Given the description of an element on the screen output the (x, y) to click on. 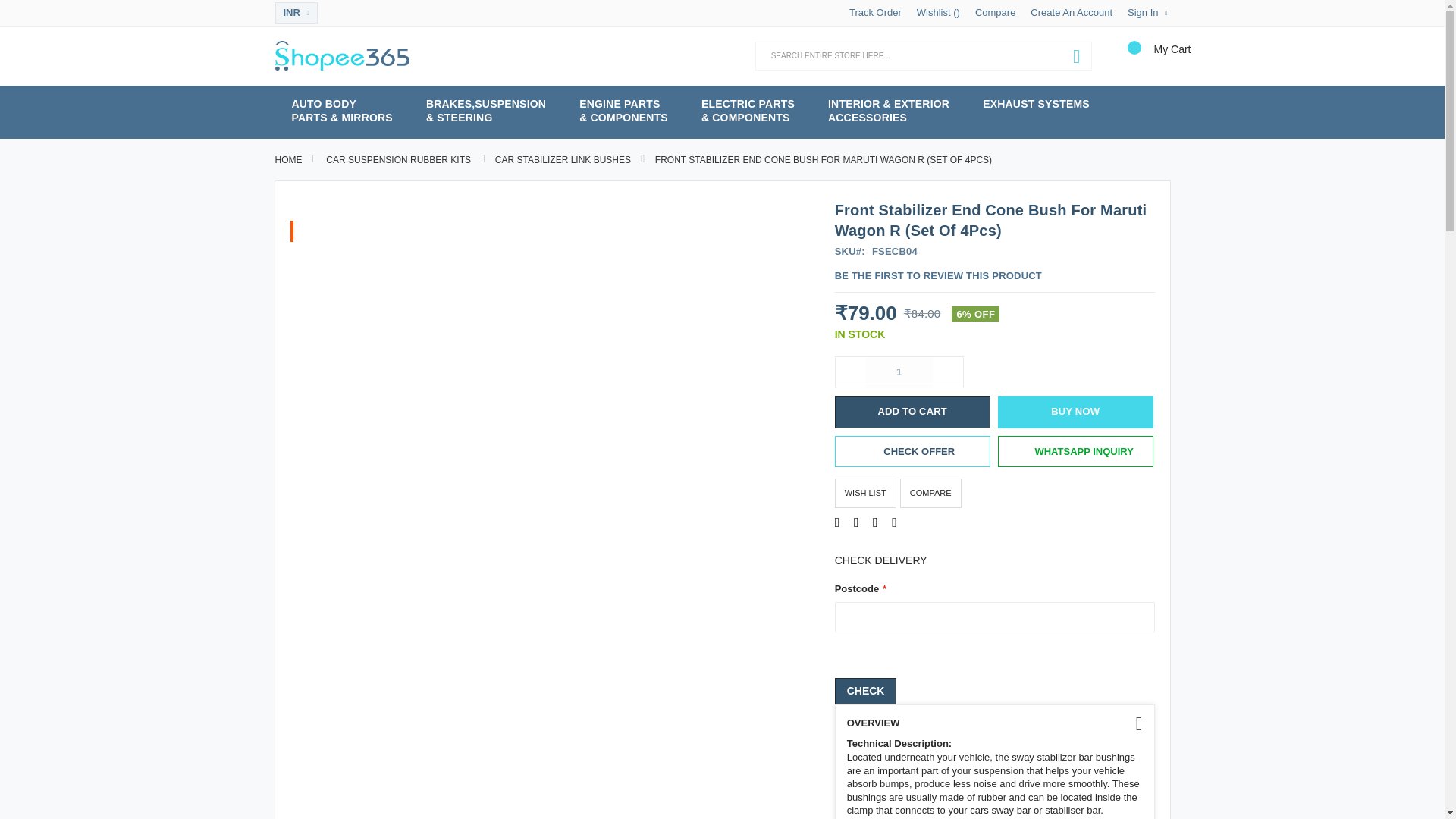
Search (1076, 56)
Track Order (874, 12)
Go to Home Page (288, 159)
Postcode (994, 616)
Add to Cart (912, 411)
Qty (898, 372)
Shopee365 (342, 55)
1 (898, 372)
Create An Account (1071, 12)
Compare (994, 12)
Compare (994, 12)
My Cart (1133, 58)
Offers (912, 451)
Wishlist (938, 12)
Buy Now (1075, 411)
